Given the description of an element on the screen output the (x, y) to click on. 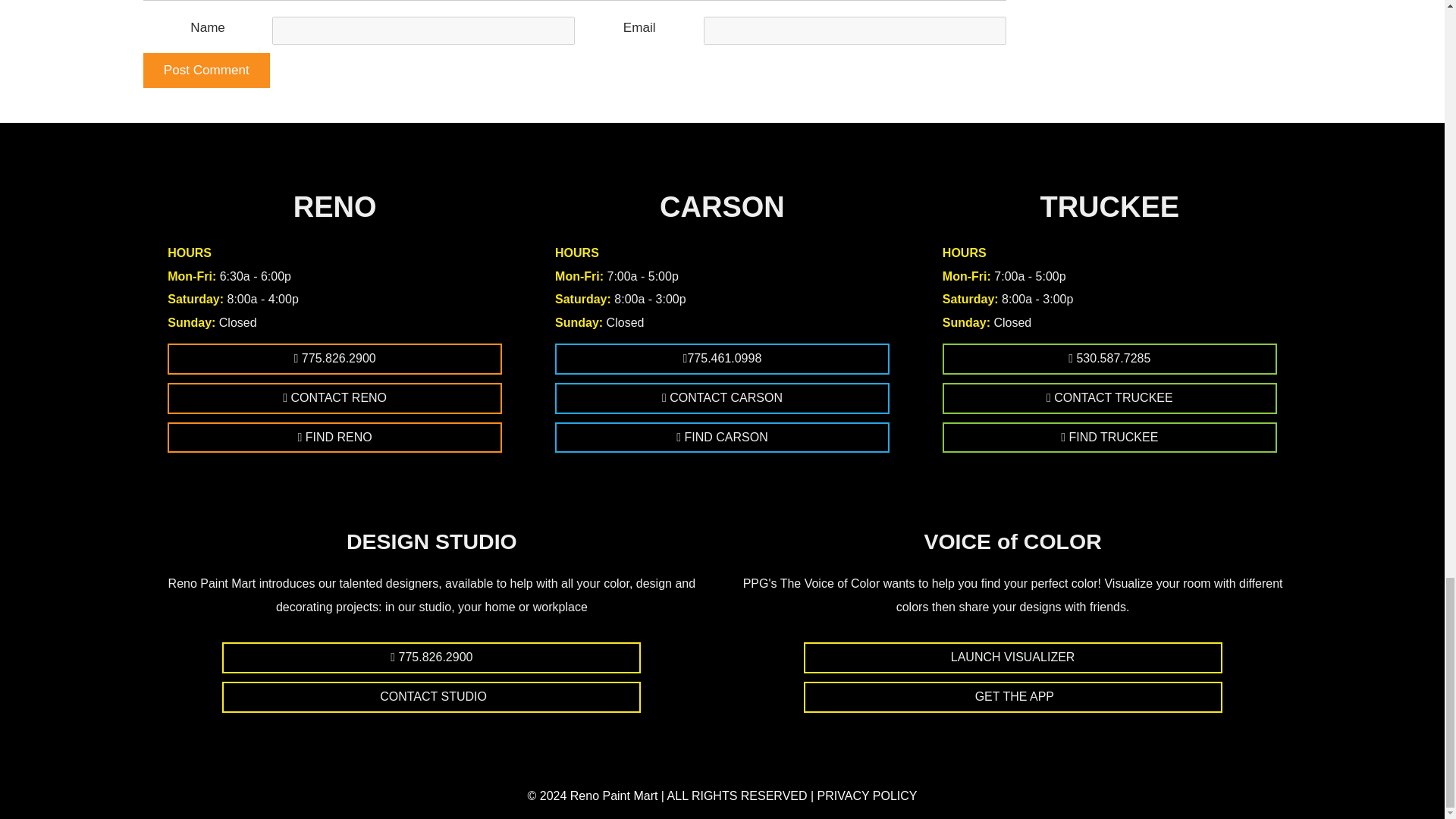
Post Comment (205, 70)
